Given the description of an element on the screen output the (x, y) to click on. 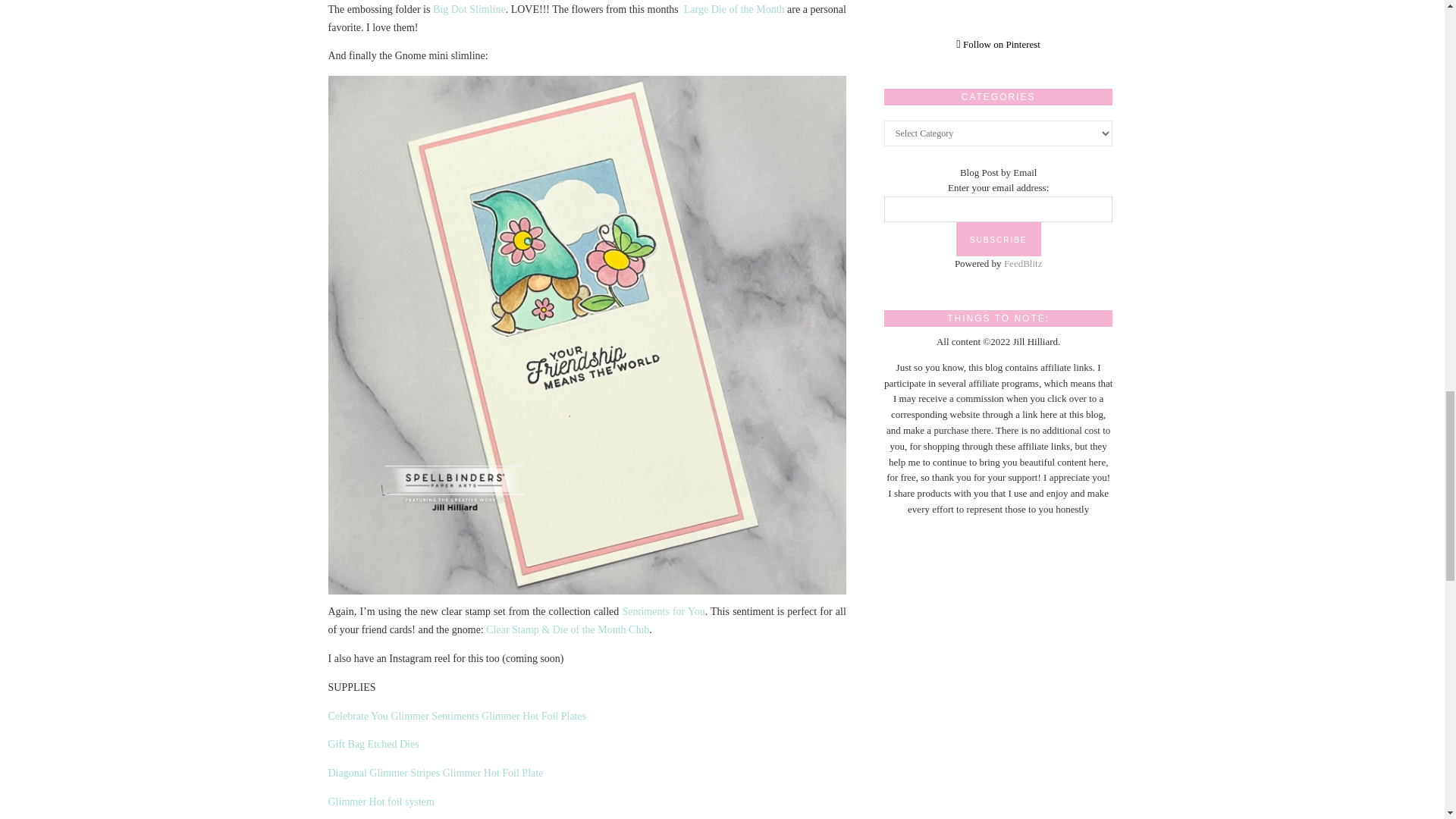
Big Dot Slimline (468, 9)
Gift Bag Etched Dies (373, 744)
Diagonal Glimmer Stripes Glimmer Hot Foil Plate (435, 772)
Celebrate You Glimmer Sentiments Glimmer Hot Foil Plates (456, 715)
Glimmer Hot foil system (380, 801)
Sentiments for You (663, 611)
Subscribe (998, 238)
Large Die of the Month (734, 9)
